Given the description of an element on the screen output the (x, y) to click on. 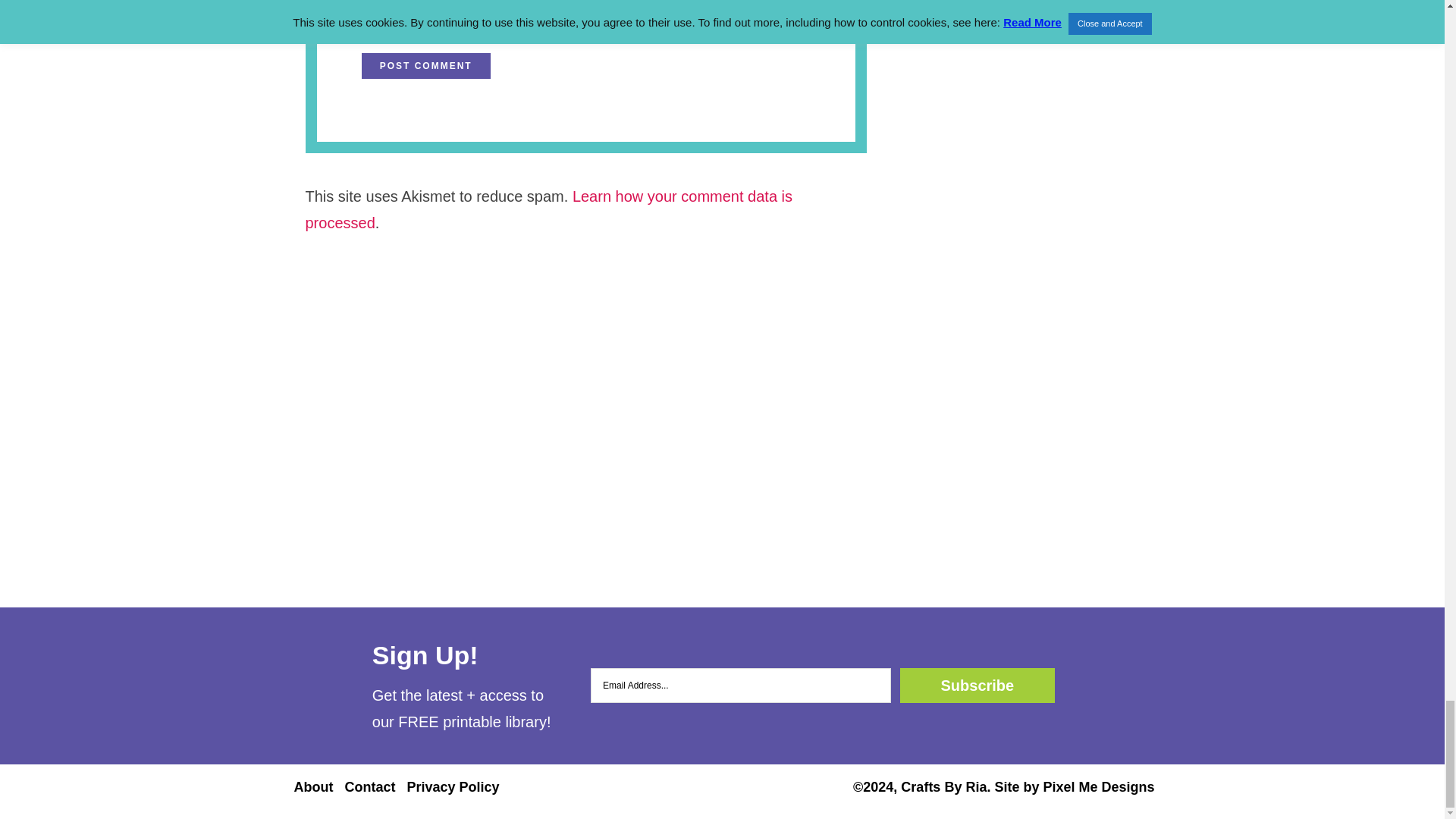
1 (366, 25)
Post Comment (425, 65)
Subscribe (976, 685)
